Given the description of an element on the screen output the (x, y) to click on. 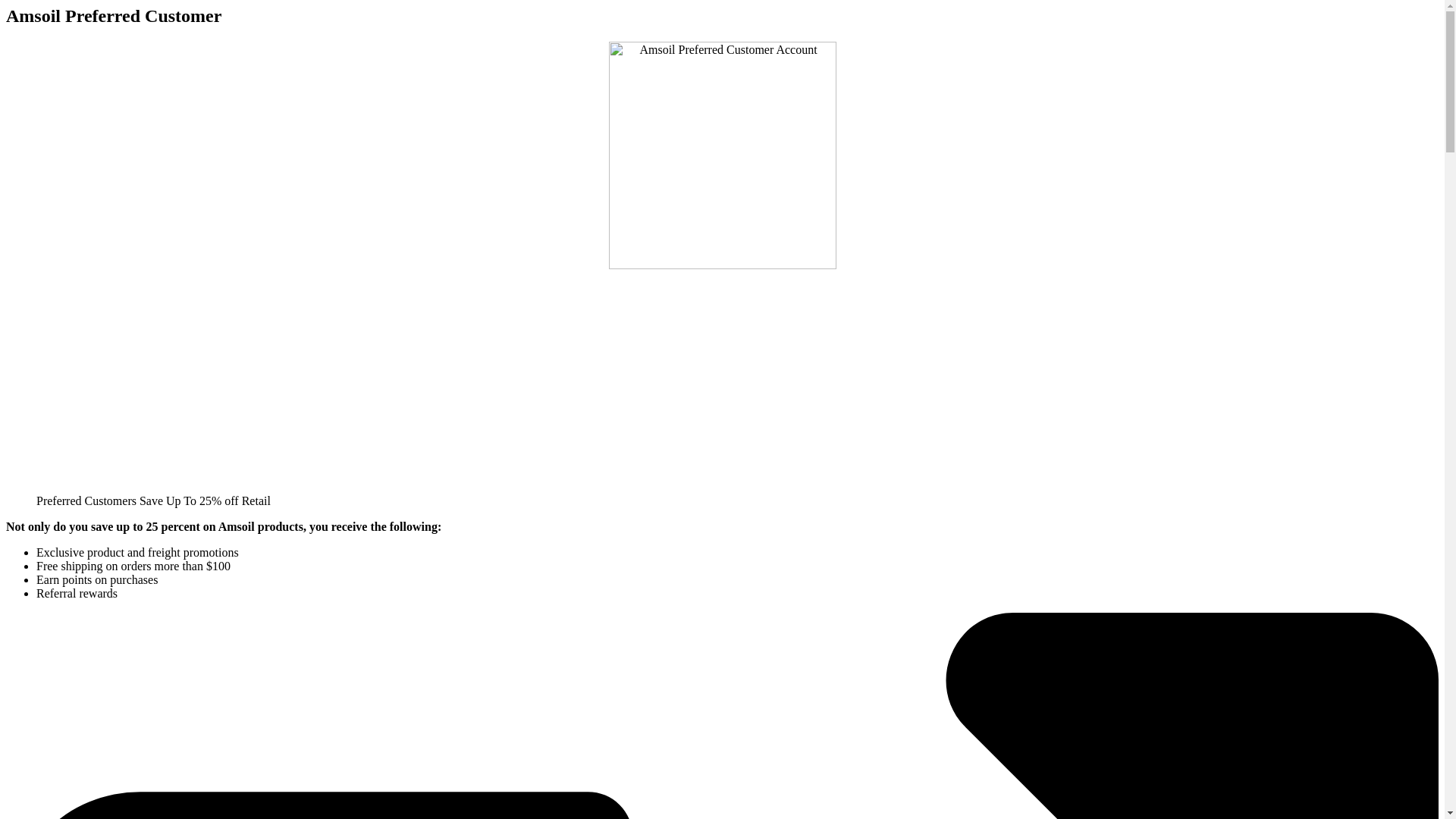
Benefits of Becoming an Amsoil Preferred Customer (225, 387)
Amsoil Preferred Customer Account (721, 155)
